Given the description of an element on the screen output the (x, y) to click on. 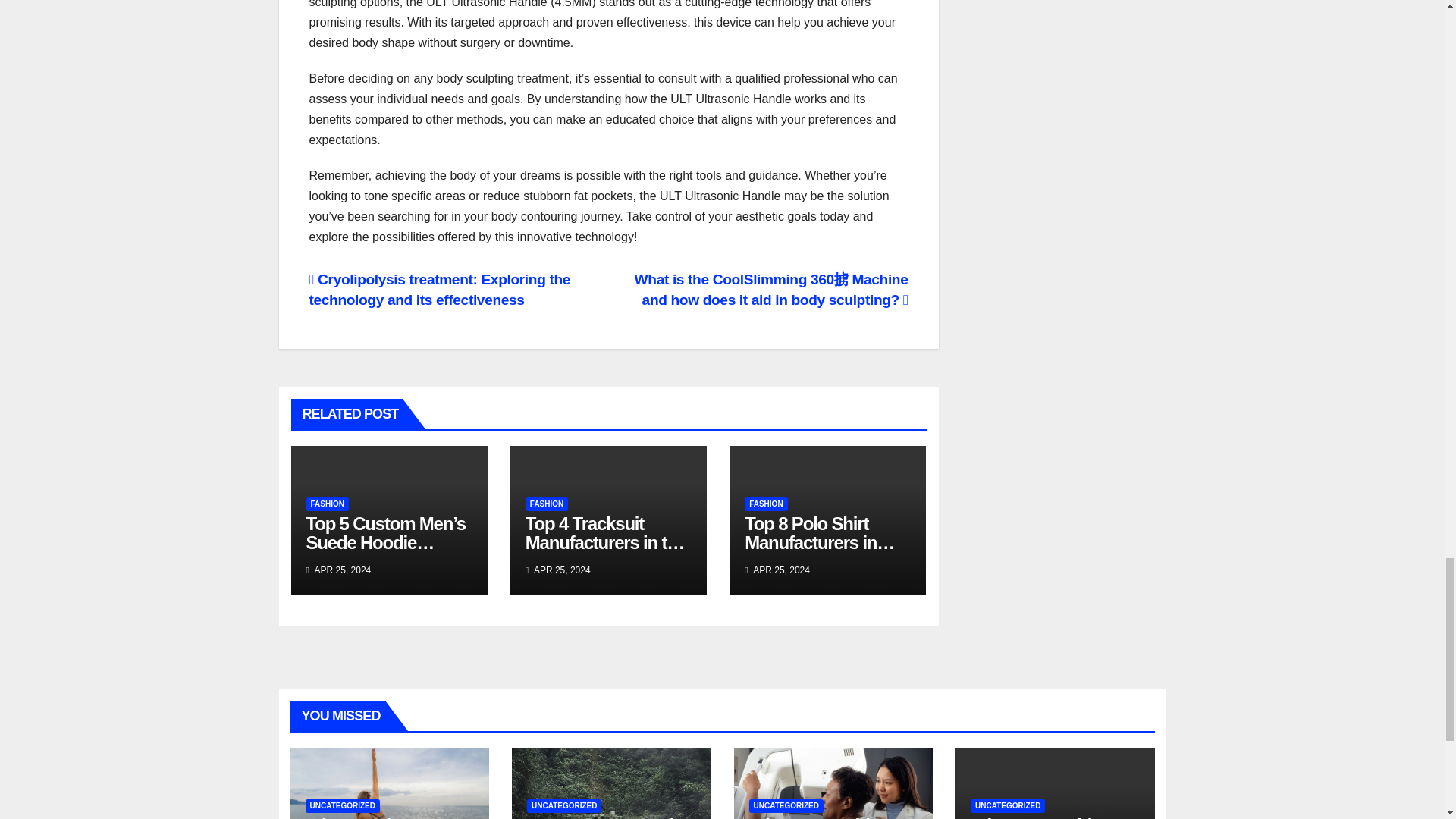
FASHION (765, 504)
FASHION (546, 504)
Permalink to: Top 8 Polo Shirt Manufacturers in South Africa (819, 542)
Top 4 Tracksuit Manufacturers in the United Kingdom (605, 542)
Top 8 Polo Shirt Manufacturers in South Africa (819, 542)
FASHION (327, 504)
